Given the description of an element on the screen output the (x, y) to click on. 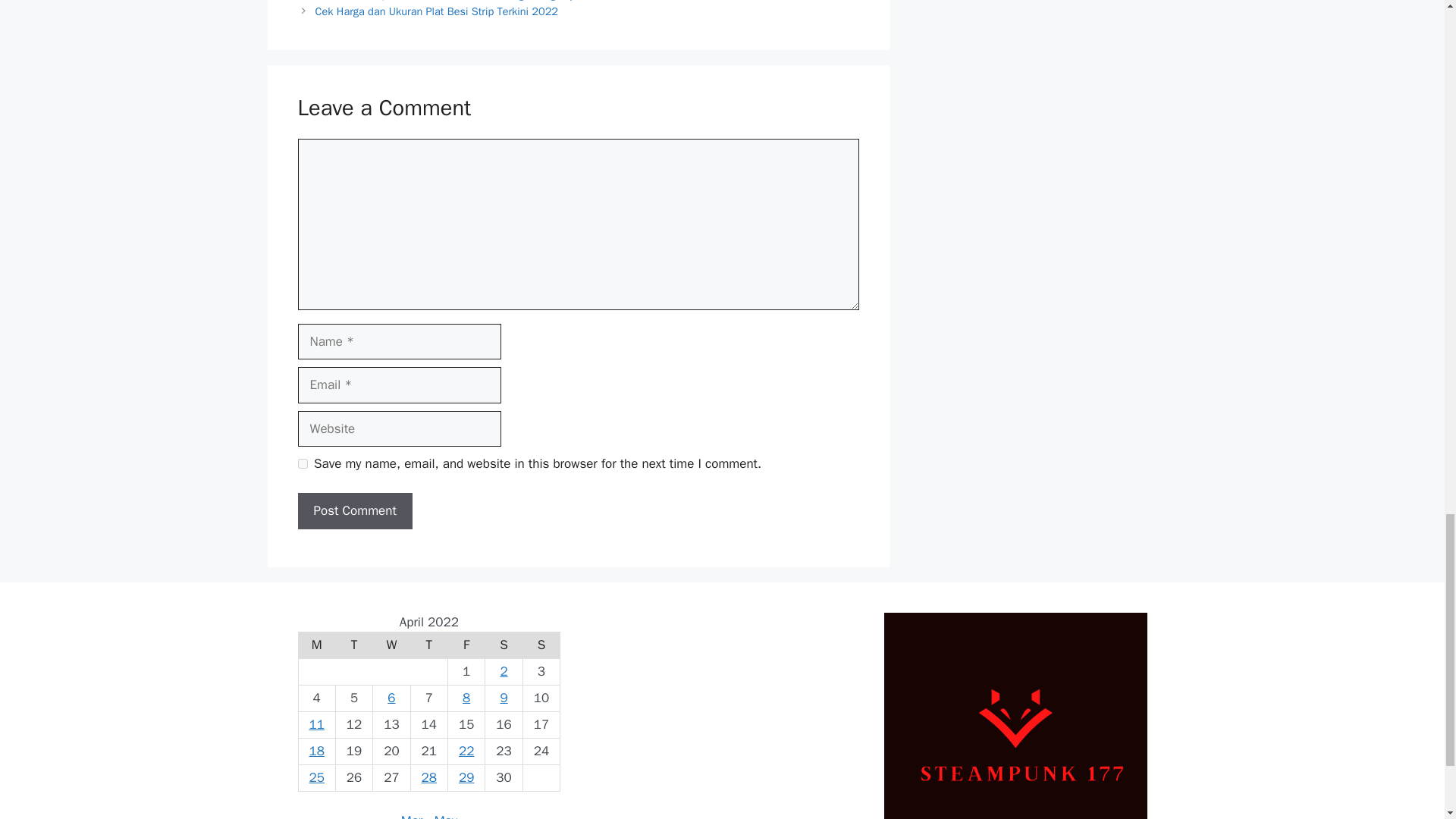
Post Comment (354, 511)
11 (315, 724)
Sunday (540, 645)
29 (466, 777)
Tuesday (353, 645)
Post Comment (354, 511)
28 (429, 777)
Next (436, 11)
Wednesday (391, 645)
